Given the description of an element on the screen output the (x, y) to click on. 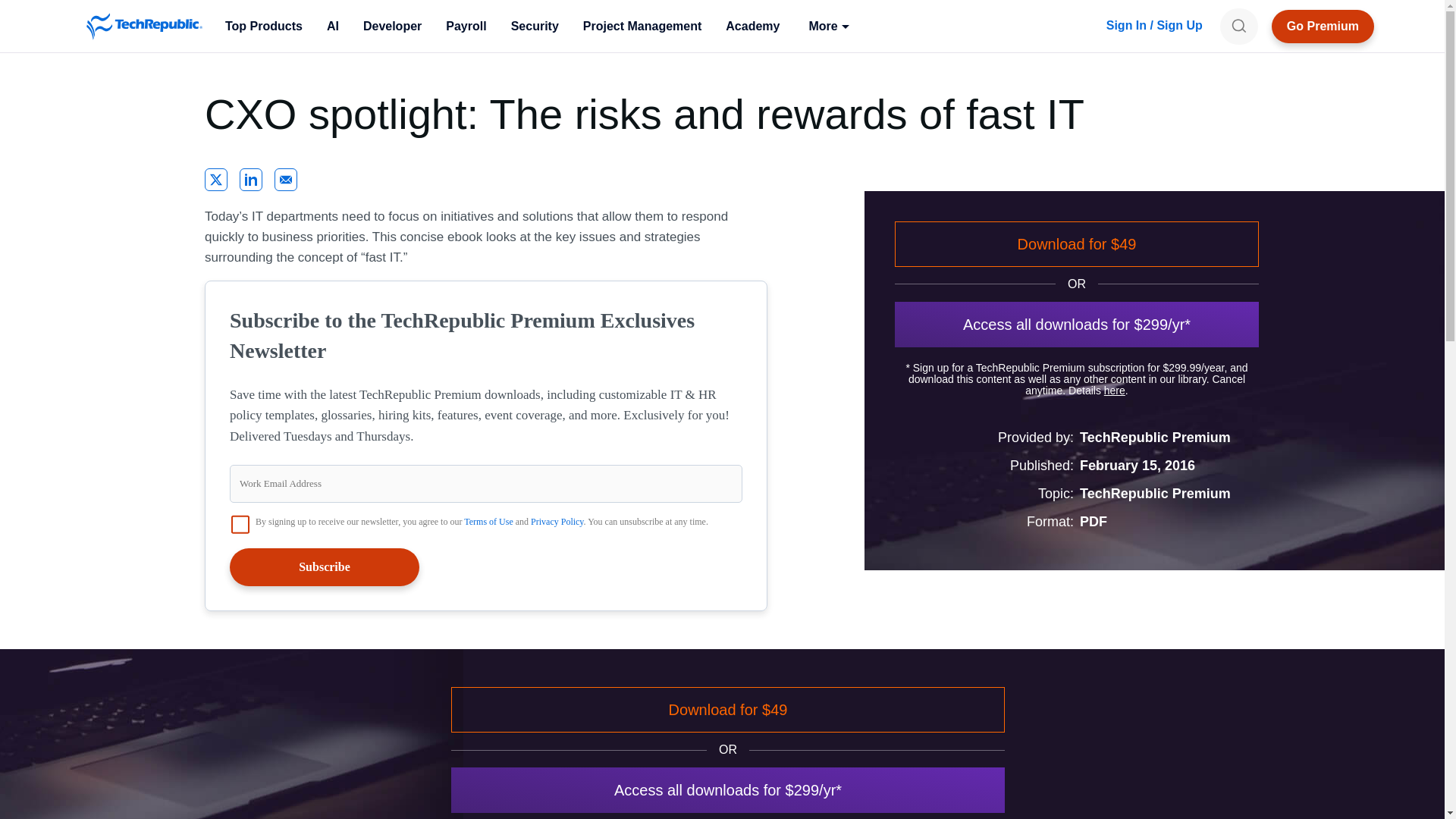
TechRepublic (143, 25)
TechRepublic (143, 25)
TechRepublic (143, 25)
Payroll (465, 26)
Academy (752, 26)
Top Products (263, 26)
Subscribe (324, 566)
TechRepublic Premium (1322, 25)
Go Premium (1322, 25)
Developer (392, 26)
Security (534, 26)
Terms of Use (488, 521)
Project Management (641, 26)
Privacy Policy (557, 521)
on (239, 524)
